Given the description of an element on the screen output the (x, y) to click on. 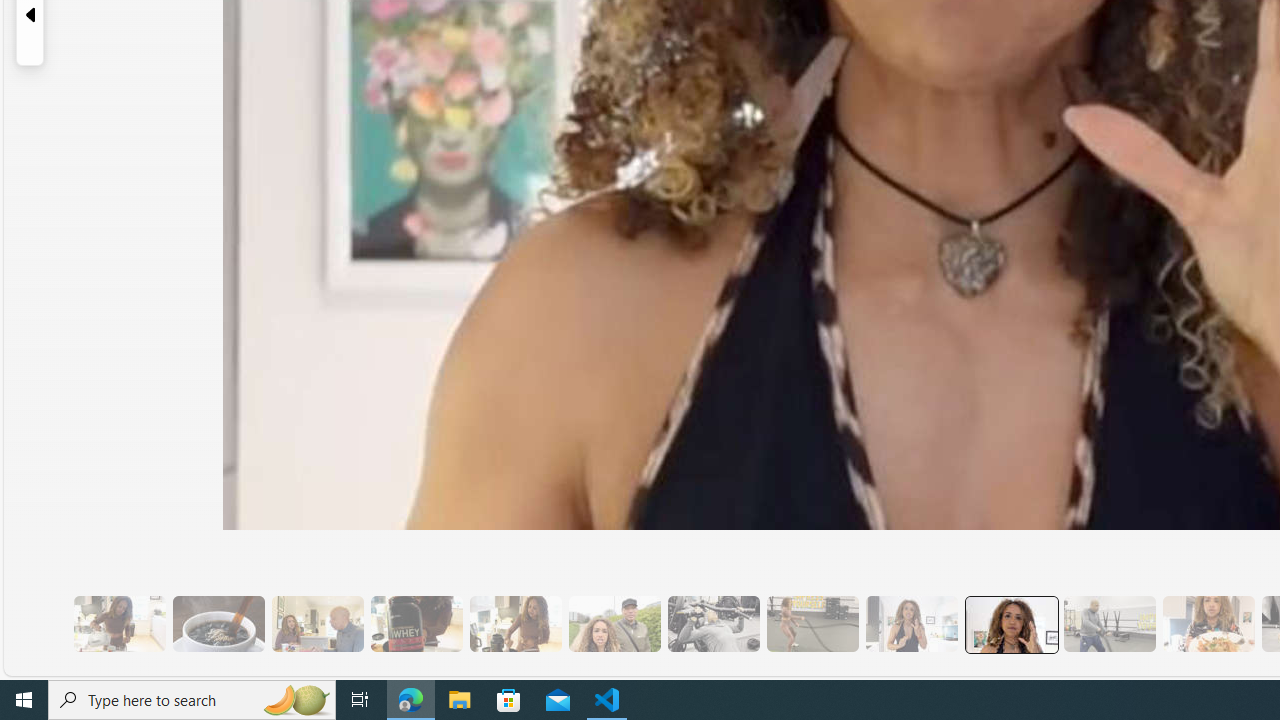
3 They Drink Lemon Tea (119, 624)
11 They Eat More Protein for Breakfast (911, 624)
6 Since Eating More Protein Her Training Has Improved (416, 624)
8 They Walk to the Gym (614, 624)
14 They Have Salmon and Veggies for Dinner (1208, 624)
3 They Drink Lemon Tea (119, 624)
7 They Don't Skip Meals (514, 624)
8 Be Mindful of Coffee (217, 624)
7 They Don't Skip Meals (514, 624)
5 She Eats Less Than Her Husband (317, 624)
13 Her Husband Does Group Cardio Classs (1108, 624)
